Given the description of an element on the screen output the (x, y) to click on. 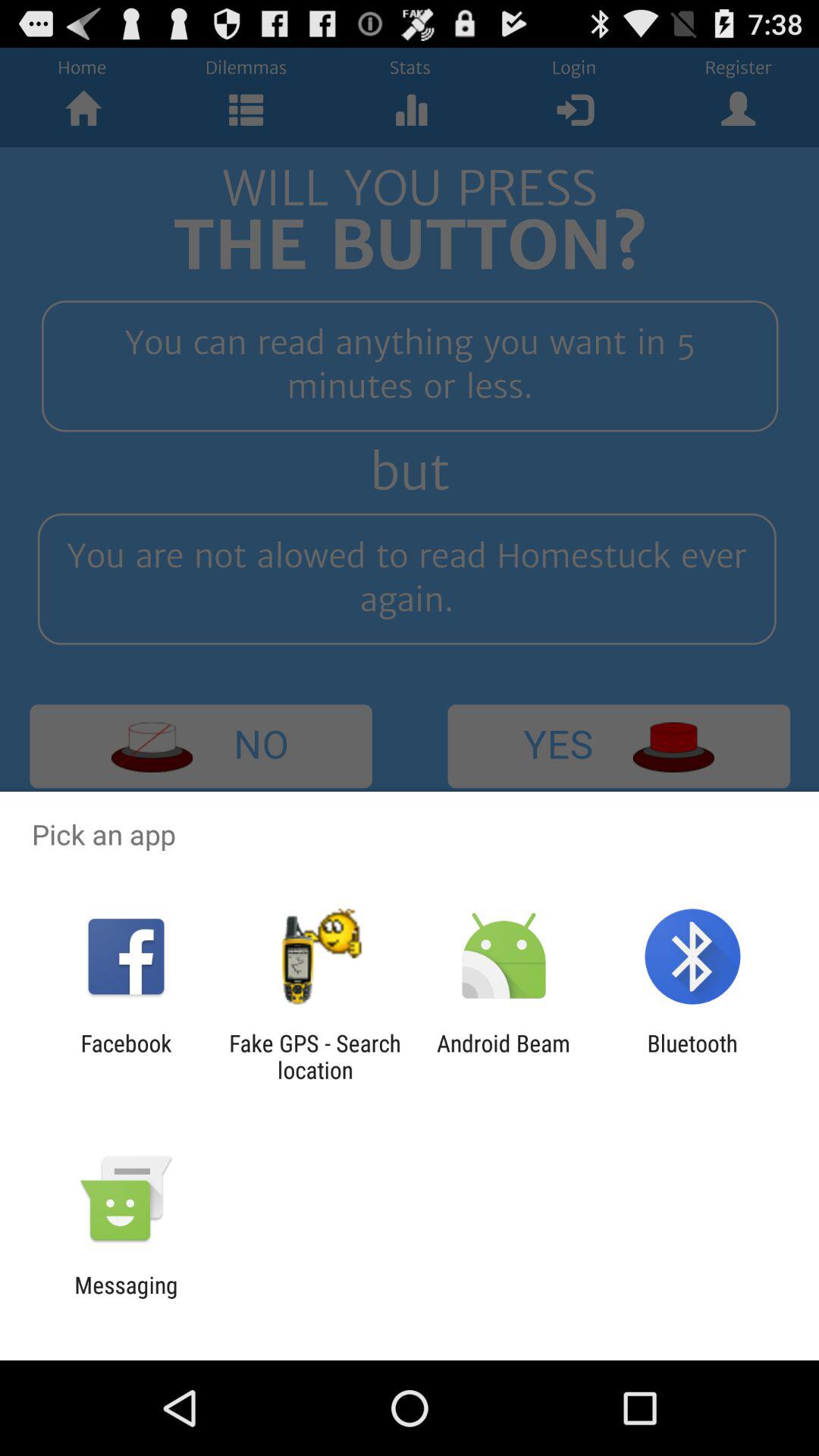
open the app to the left of the fake gps search icon (125, 1056)
